Given the description of an element on the screen output the (x, y) to click on. 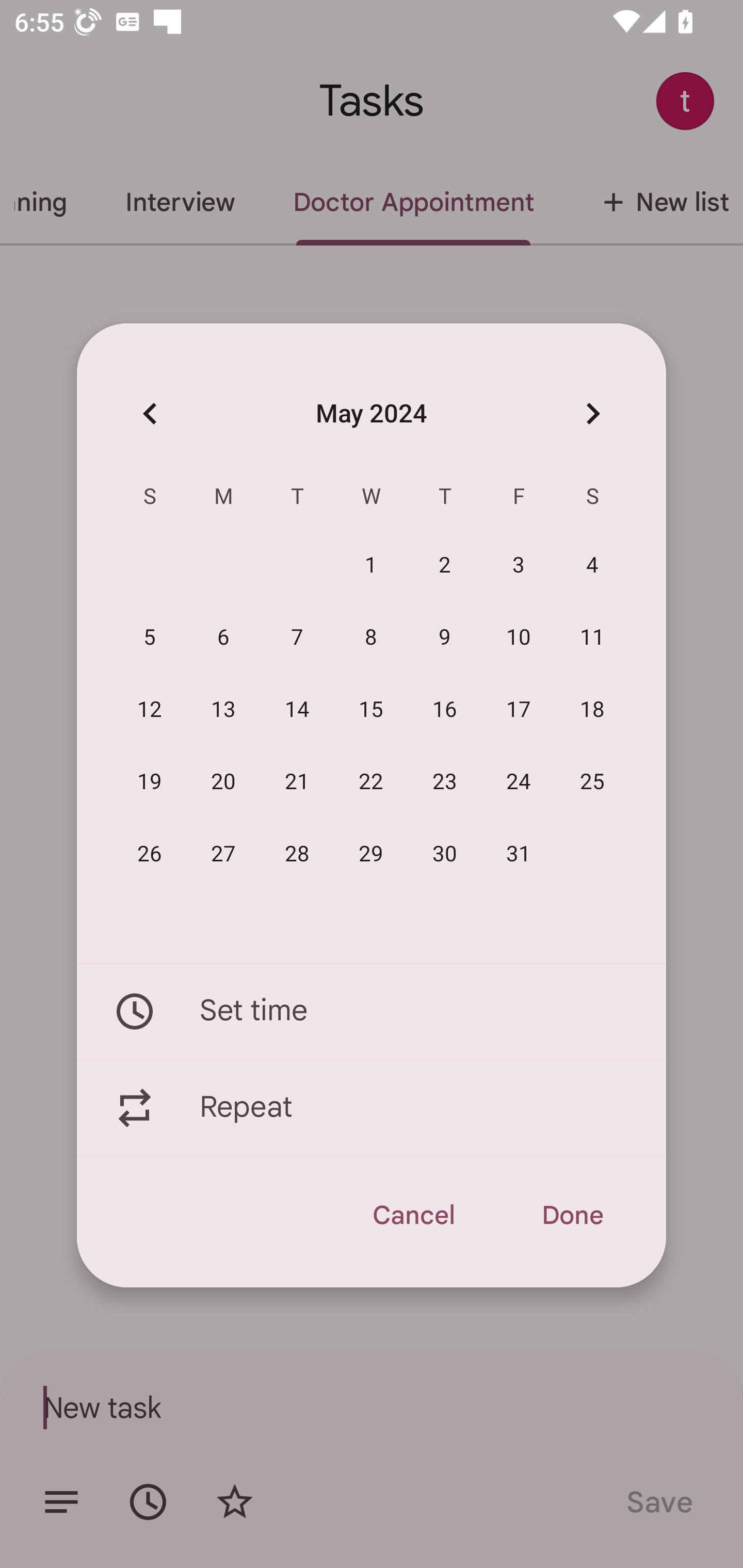
Previous month (149, 413)
Next month (592, 413)
1 01 May 2024 (370, 565)
2 02 May 2024 (444, 565)
3 03 May 2024 (518, 565)
4 04 May 2024 (592, 565)
5 05 May 2024 (149, 638)
6 06 May 2024 (223, 638)
7 07 May 2024 (297, 638)
8 08 May 2024 (370, 638)
9 09 May 2024 (444, 638)
10 10 May 2024 (518, 638)
11 11 May 2024 (592, 638)
12 12 May 2024 (149, 710)
13 13 May 2024 (223, 710)
14 14 May 2024 (297, 710)
15 15 May 2024 (370, 710)
16 16 May 2024 (444, 710)
17 17 May 2024 (518, 710)
18 18 May 2024 (592, 710)
19 19 May 2024 (149, 782)
20 20 May 2024 (223, 782)
21 21 May 2024 (297, 782)
22 22 May 2024 (370, 782)
23 23 May 2024 (444, 782)
24 24 May 2024 (518, 782)
25 25 May 2024 (592, 782)
26 26 May 2024 (149, 854)
27 27 May 2024 (223, 854)
28 28 May 2024 (297, 854)
29 29 May 2024 (370, 854)
30 30 May 2024 (444, 854)
31 31 May 2024 (518, 854)
Set time (371, 1011)
Repeat (371, 1108)
Cancel (412, 1215)
Done (571, 1215)
